Given the description of an element on the screen output the (x, y) to click on. 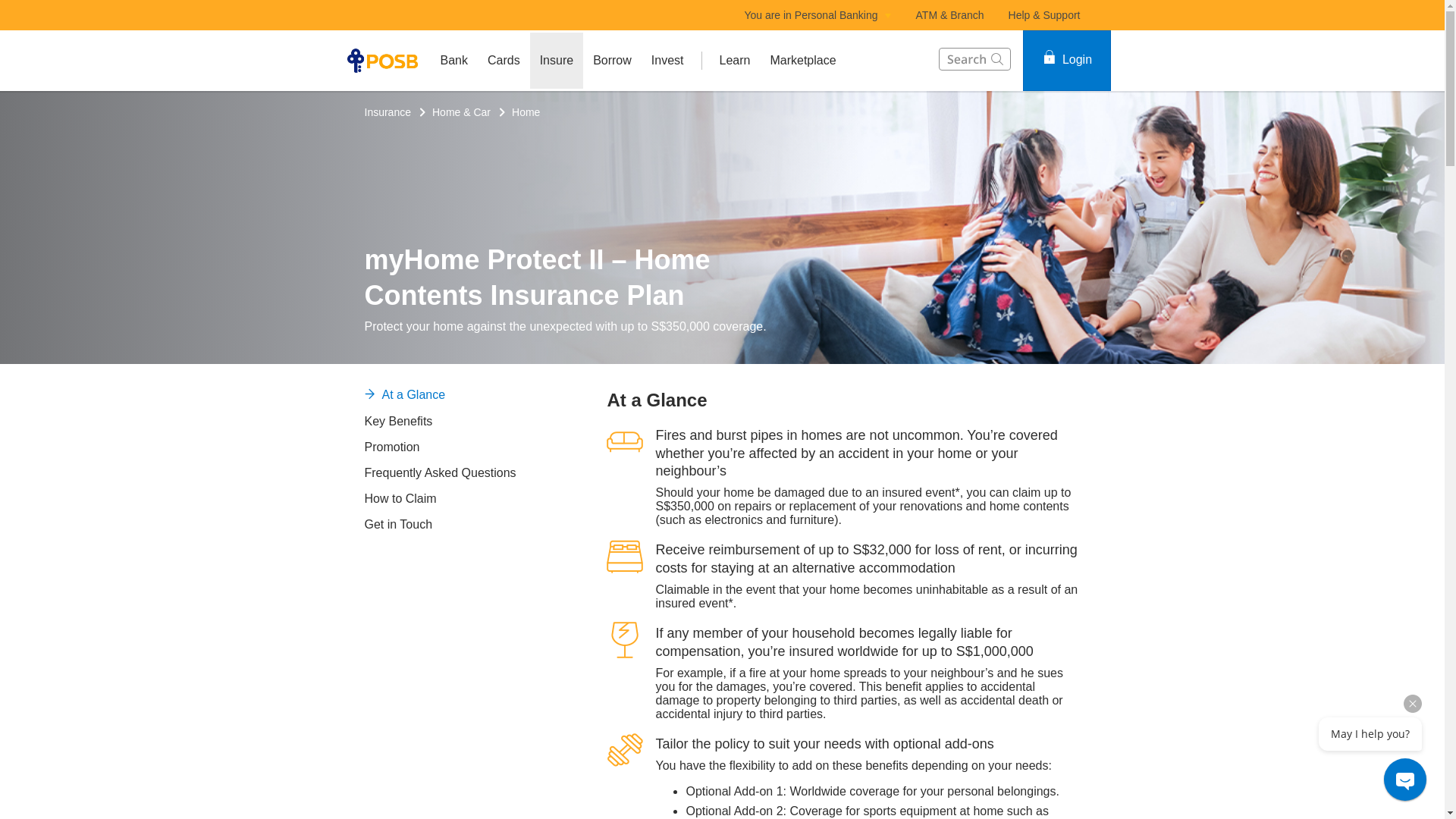
Login (1065, 60)
Insure (556, 60)
Cards (503, 60)
Invest (668, 60)
Learn (735, 60)
Borrow (612, 60)
Marketplace (802, 60)
You are in Personal Banking (817, 15)
